Given the description of an element on the screen output the (x, y) to click on. 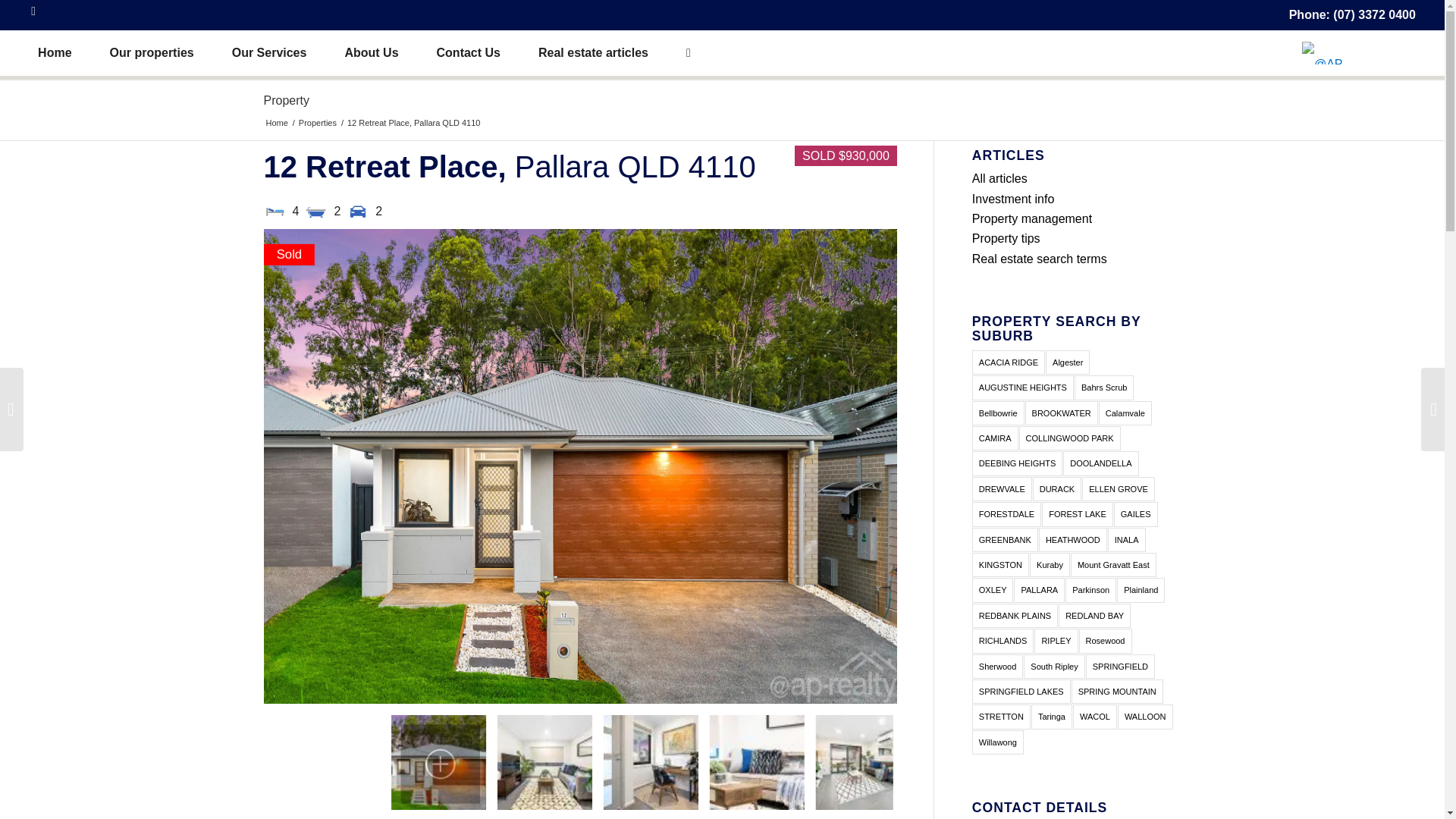
Home (276, 122)
Bedrooms (274, 210)
Parking Spaces (357, 210)
Property (285, 100)
Home (54, 53)
Properties (318, 122)
logo-blue-300 (1358, 53)
Our Services (269, 53)
logo-blue-300 (1335, 53)
Real estate articles (592, 53)
Contact Us (468, 53)
Permanent Link: Property (285, 100)
Properties (318, 122)
Our properties (151, 53)
Bathrooms (315, 210)
